Given the description of an element on the screen output the (x, y) to click on. 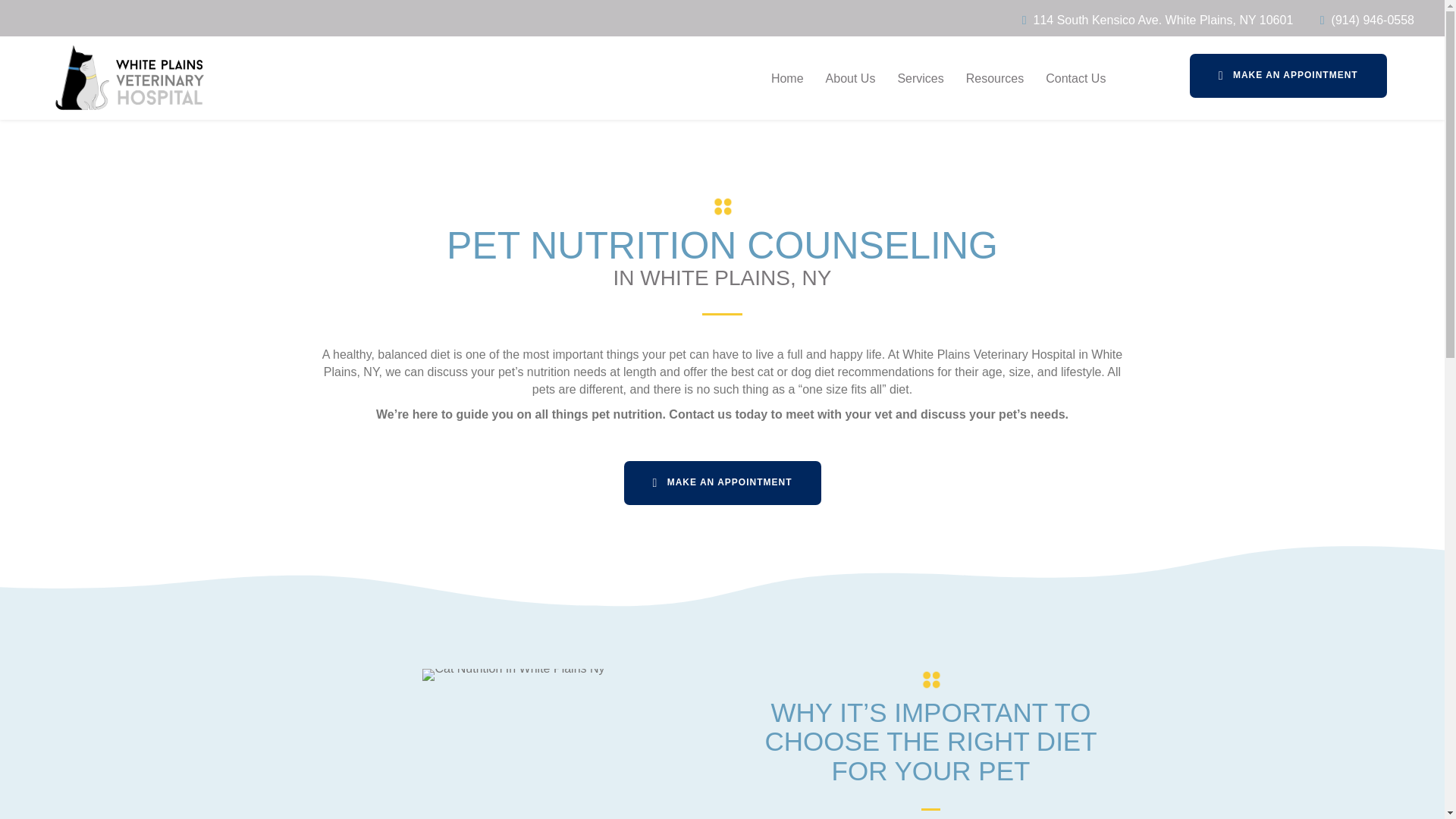
114 South Kensico Ave. White Plains, NY 10601 (1163, 19)
Resources (994, 77)
MAKE AN APPOINTMENT (1288, 75)
Contact Us (1075, 77)
MAKE AN APPOINTMENT (722, 483)
About Us (850, 77)
Cat Nutrition In White Plains Ny (513, 674)
Home (786, 77)
White Plains Logo (129, 78)
Services (919, 77)
